Given the description of an element on the screen output the (x, y) to click on. 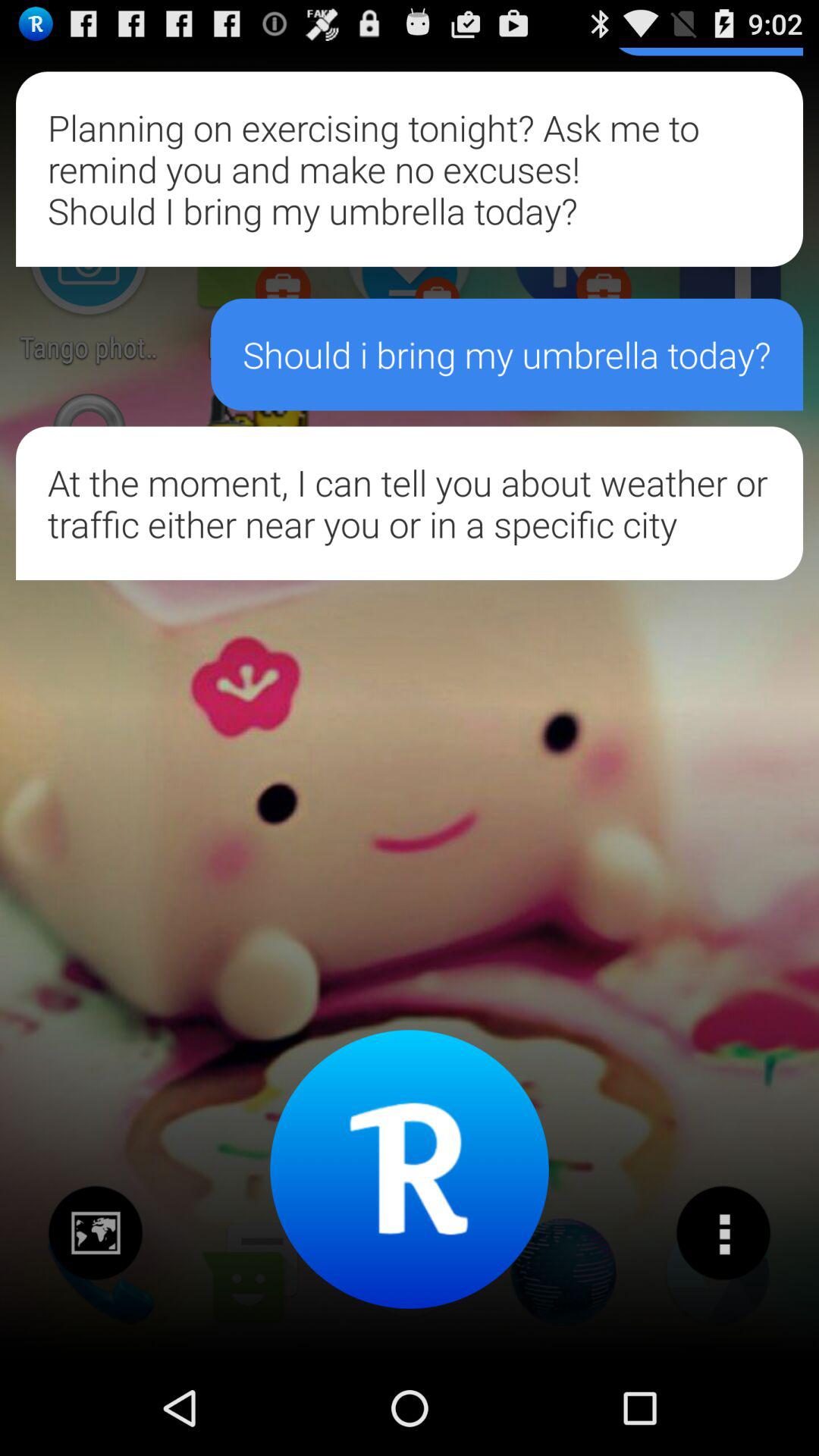
open menu (723, 1232)
